Given the description of an element on the screen output the (x, y) to click on. 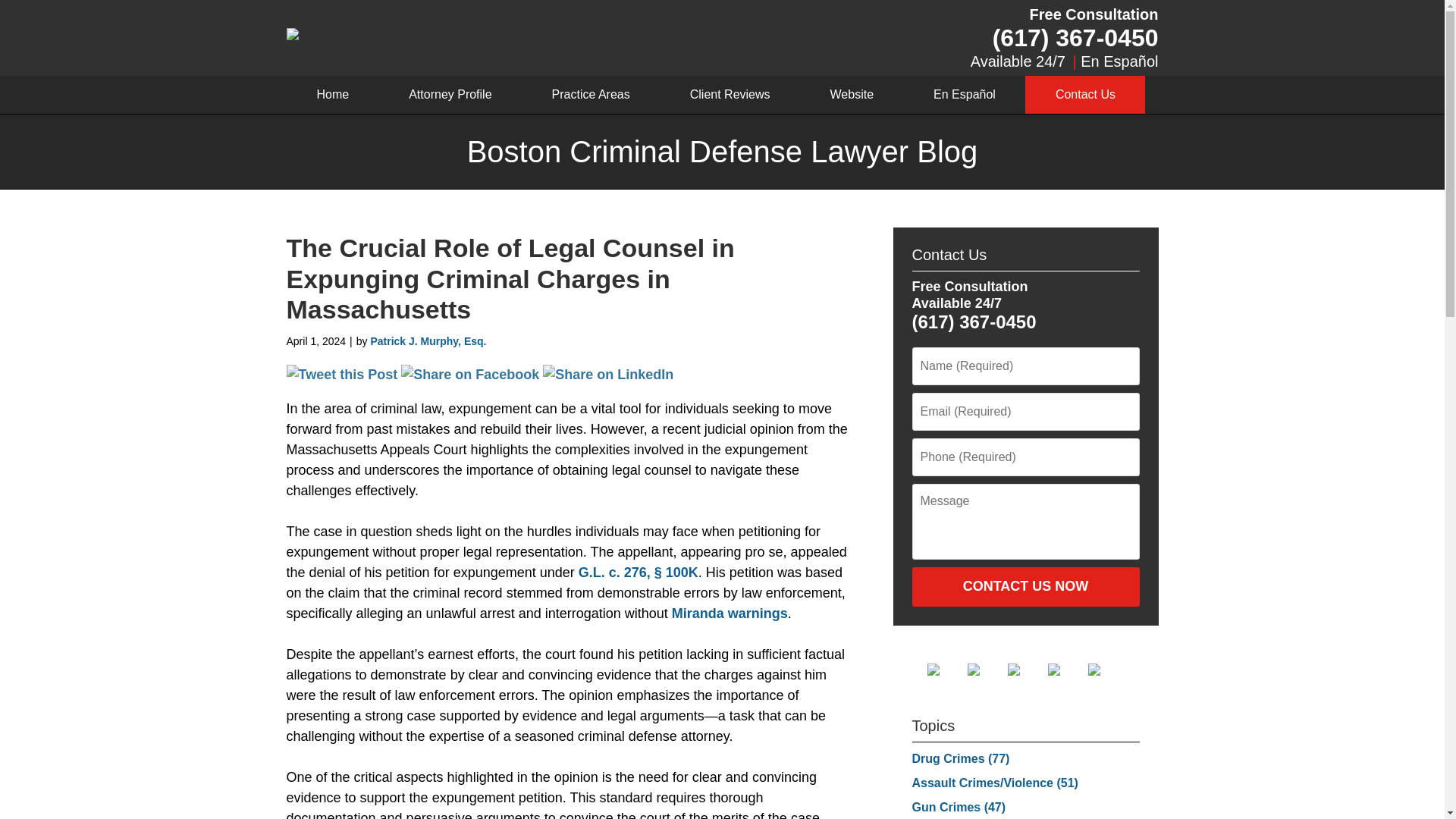
Attorney Profile (449, 94)
Twitter (986, 669)
Justia (1066, 669)
Contact Us (1084, 94)
Home (332, 94)
Miranda warnings (729, 613)
Please enter a valid phone number. (1024, 456)
Boston Criminal Defense Lawyer Blog (459, 37)
CONTACT US NOW (1024, 586)
Practice Areas (590, 94)
